Given the description of an element on the screen output the (x, y) to click on. 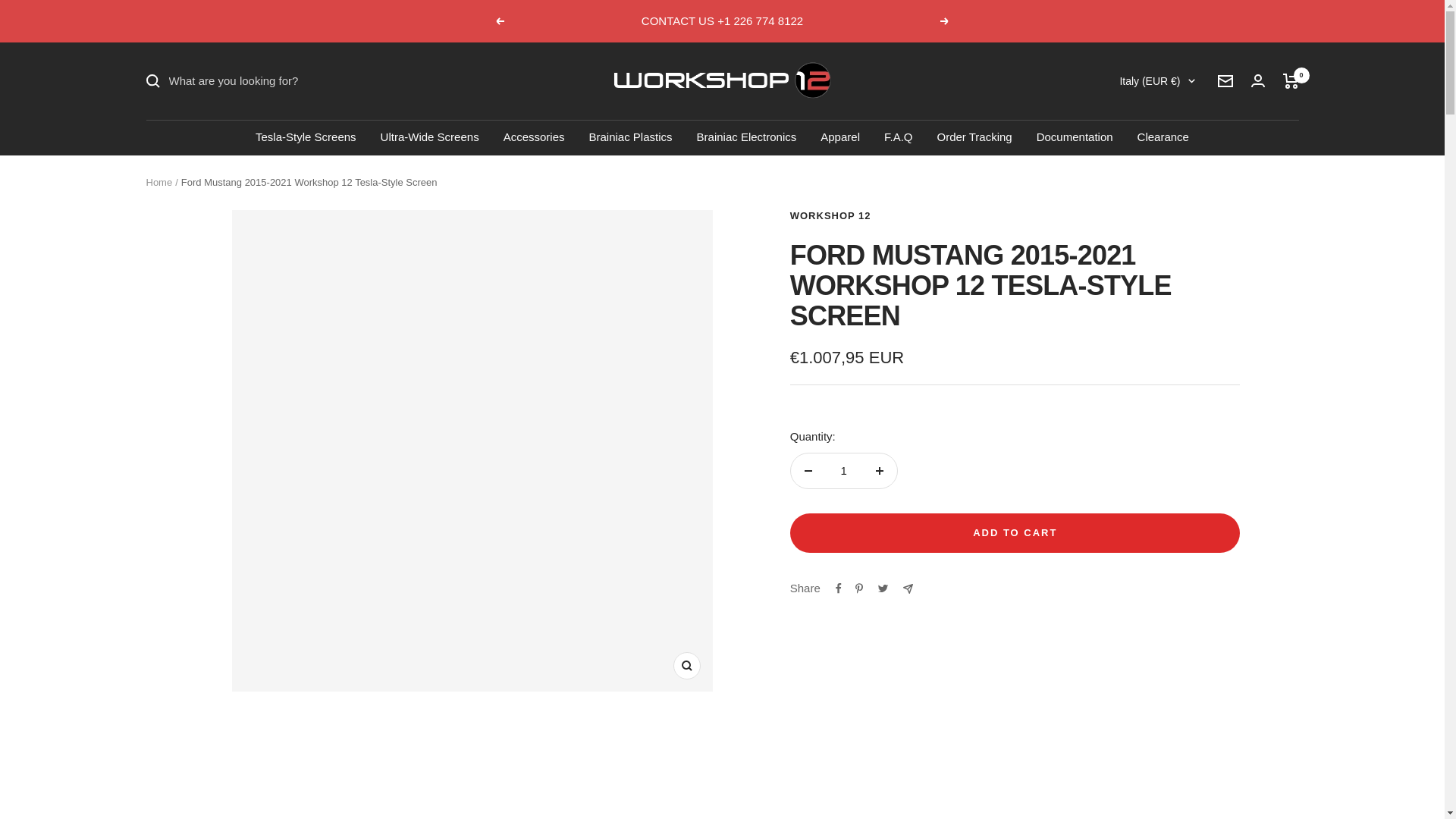
AR (1044, 333)
AT (1044, 458)
BO (1044, 759)
AI (1044, 283)
AZ (1044, 483)
BA (1044, 783)
BH (1044, 533)
BY (1044, 608)
BE (1044, 633)
BD (1044, 558)
1 (843, 470)
AG (1044, 308)
AF (1044, 133)
AD (1044, 233)
BW (1044, 809)
